Given the description of an element on the screen output the (x, y) to click on. 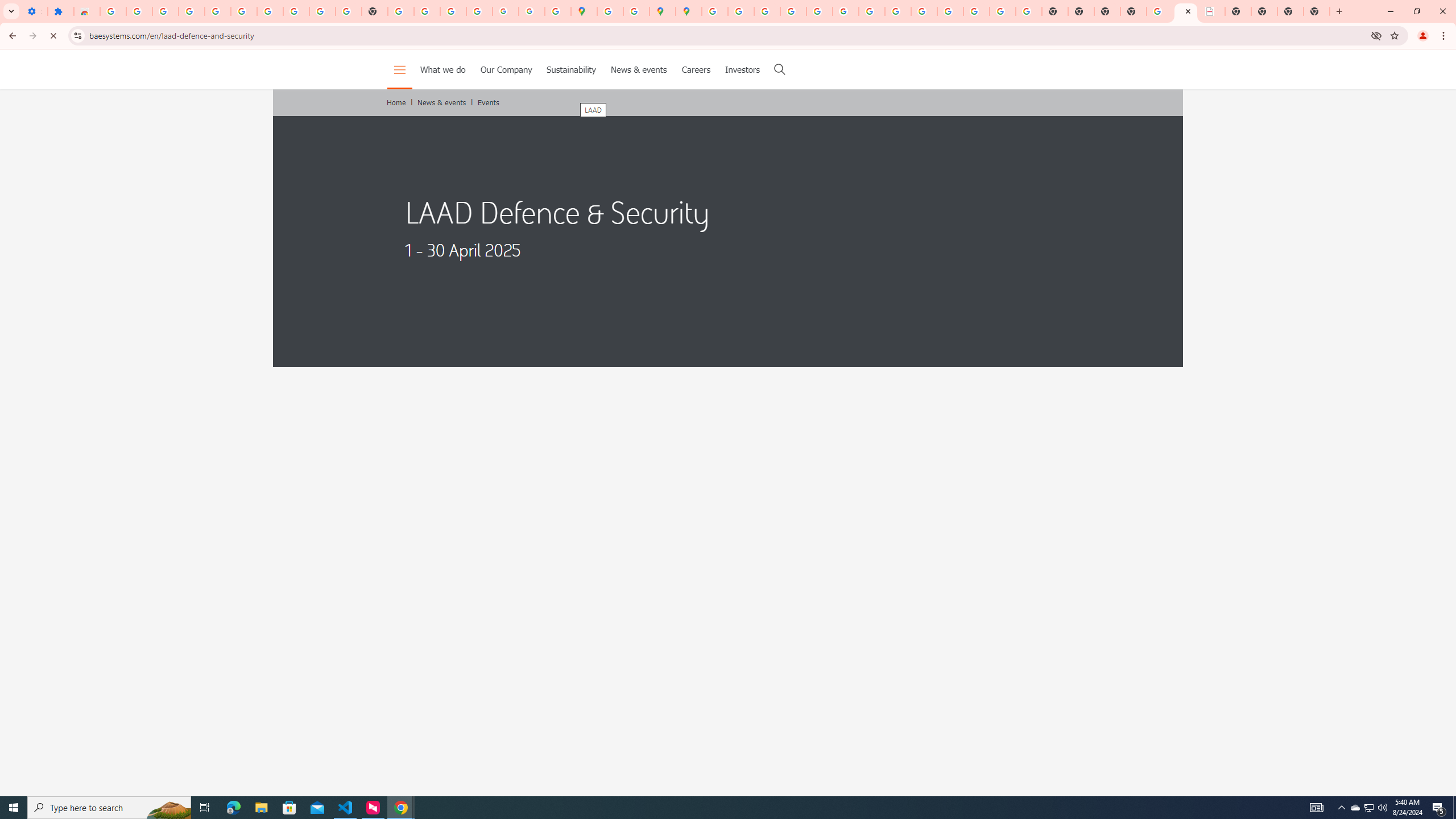
New Tab (1316, 11)
Investors (742, 69)
YouTube (871, 11)
LAAD Defence & Security 2025 | BAE Systems (1185, 11)
Google Maps (584, 11)
